Given the description of an element on the screen output the (x, y) to click on. 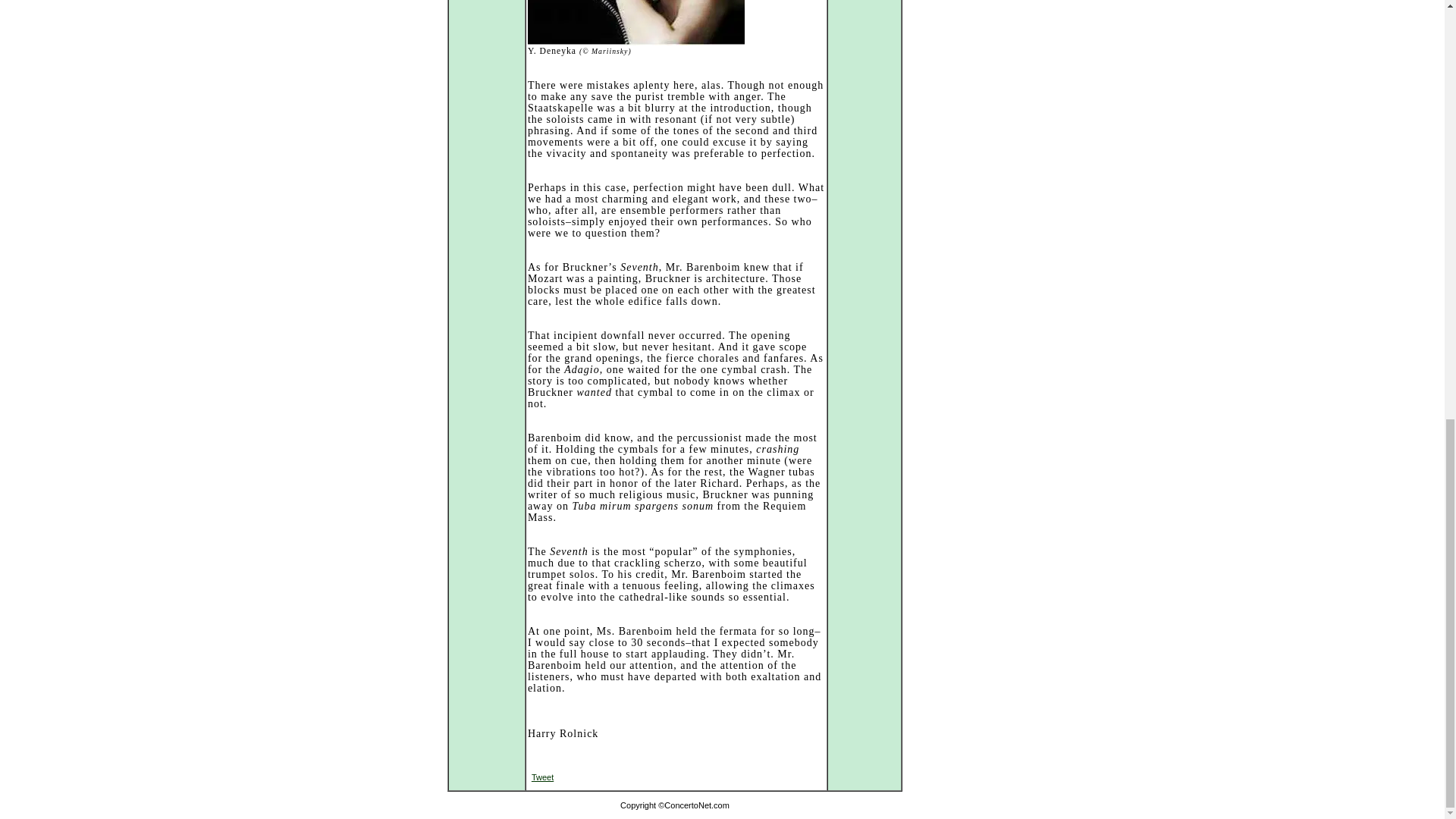
Tweet (542, 777)
